Given the description of an element on the screen output the (x, y) to click on. 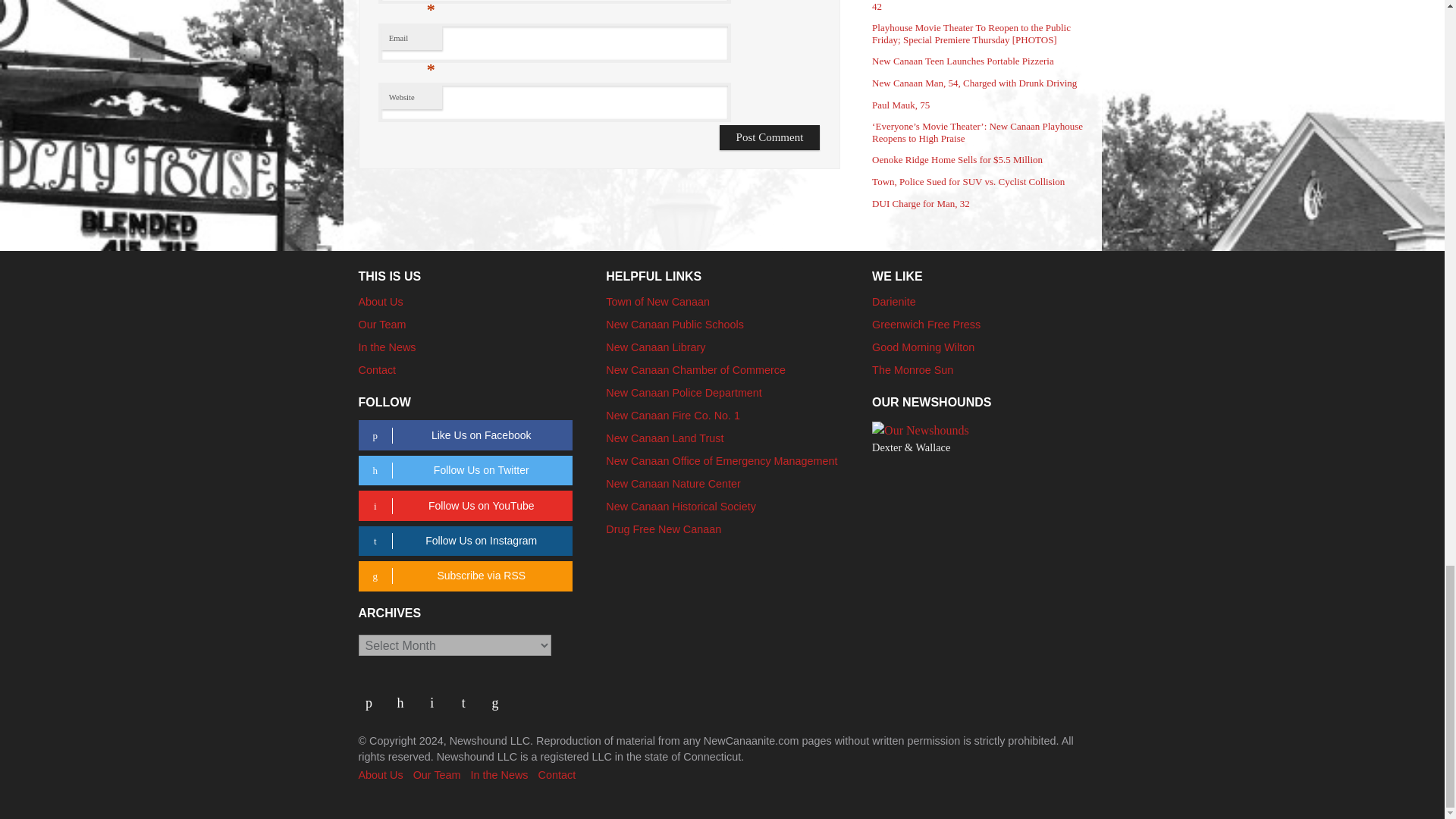
Post Comment (770, 137)
